Given the description of an element on the screen output the (x, y) to click on. 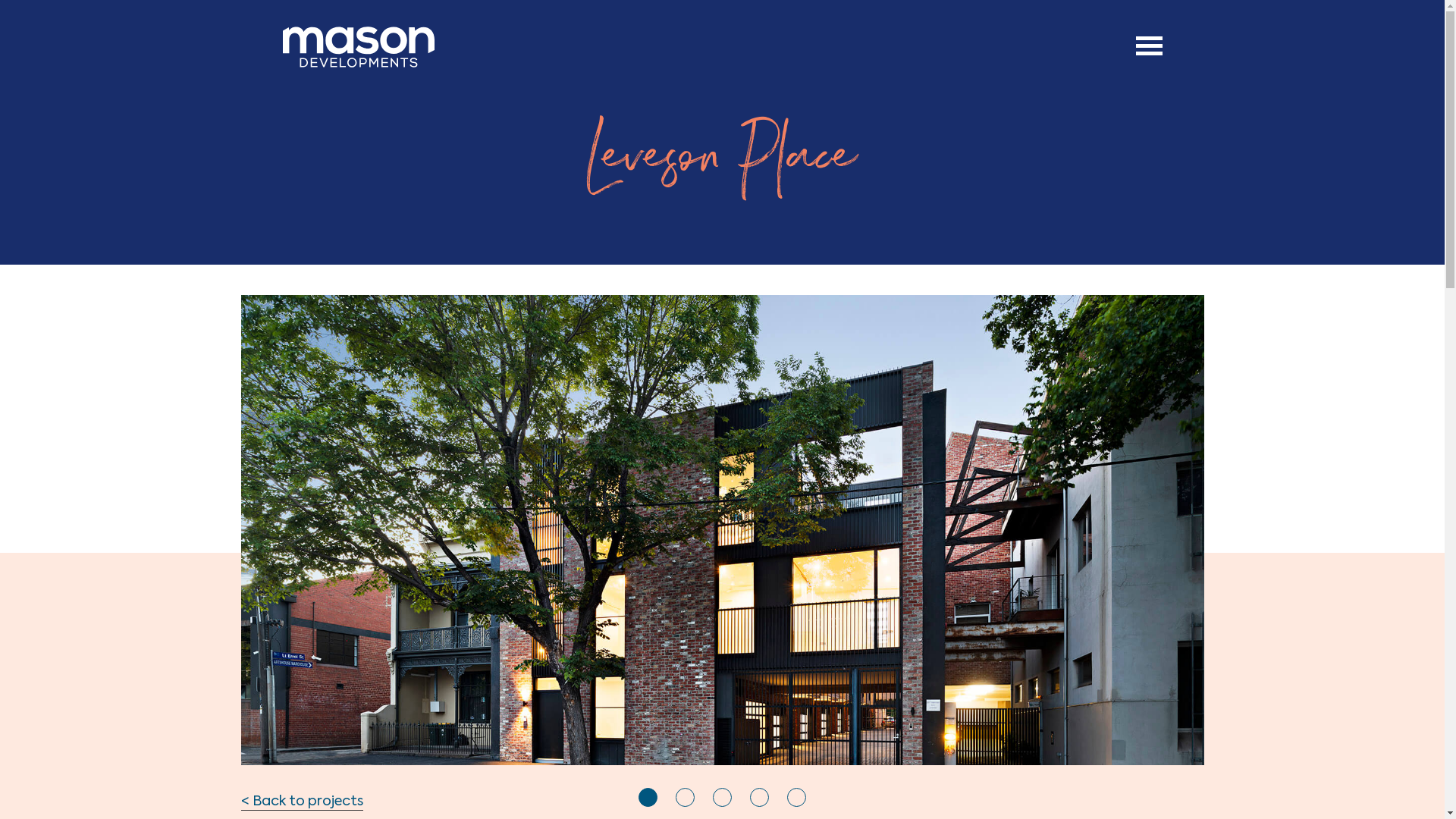
< Back to projects Element type: text (302, 802)
mason development logo Element type: hover (357, 46)
